Given the description of an element on the screen output the (x, y) to click on. 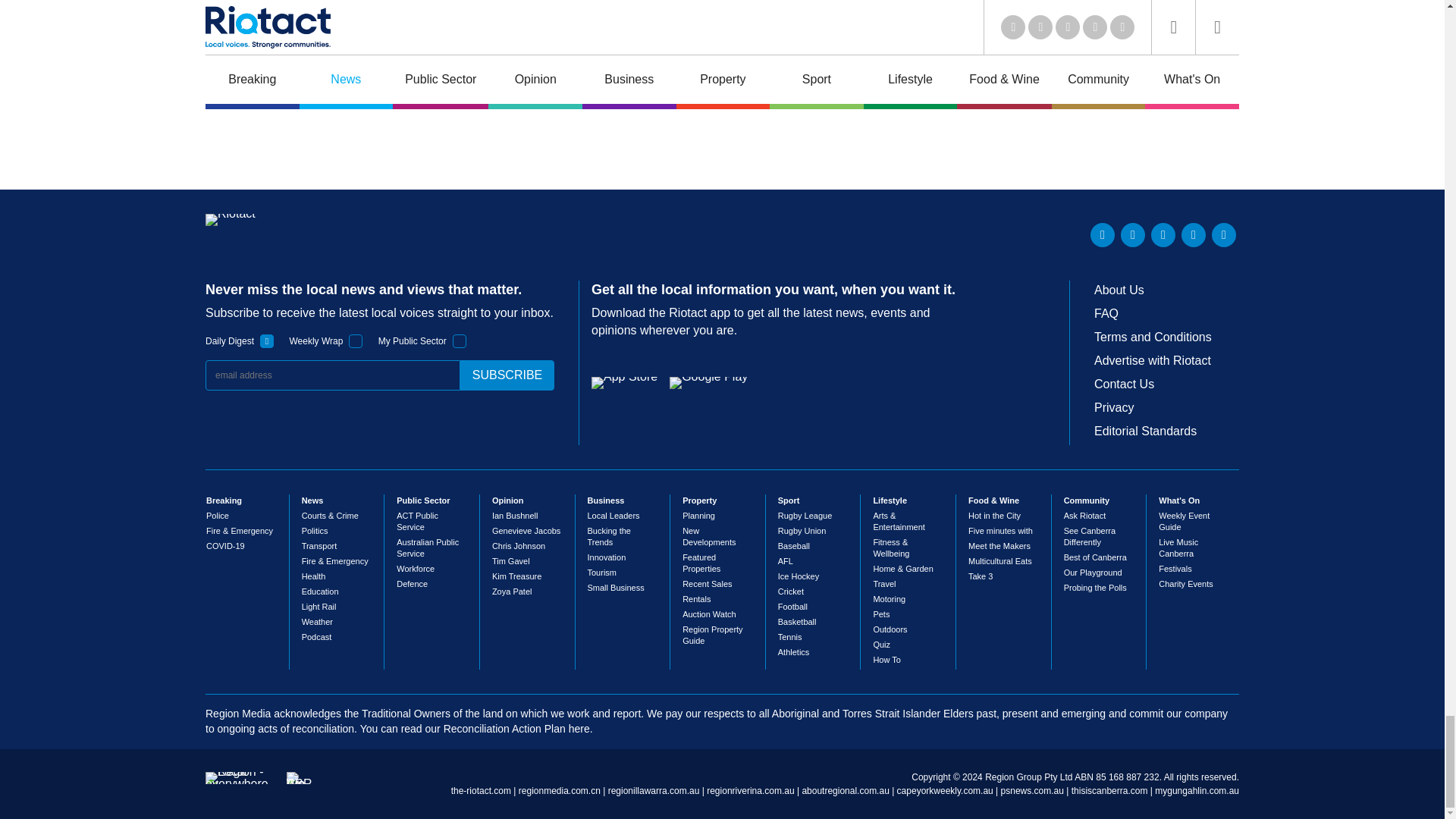
1 (458, 341)
subscribe (507, 375)
LinkedIn (1102, 234)
1 (355, 341)
1 (266, 341)
